Given the description of an element on the screen output the (x, y) to click on. 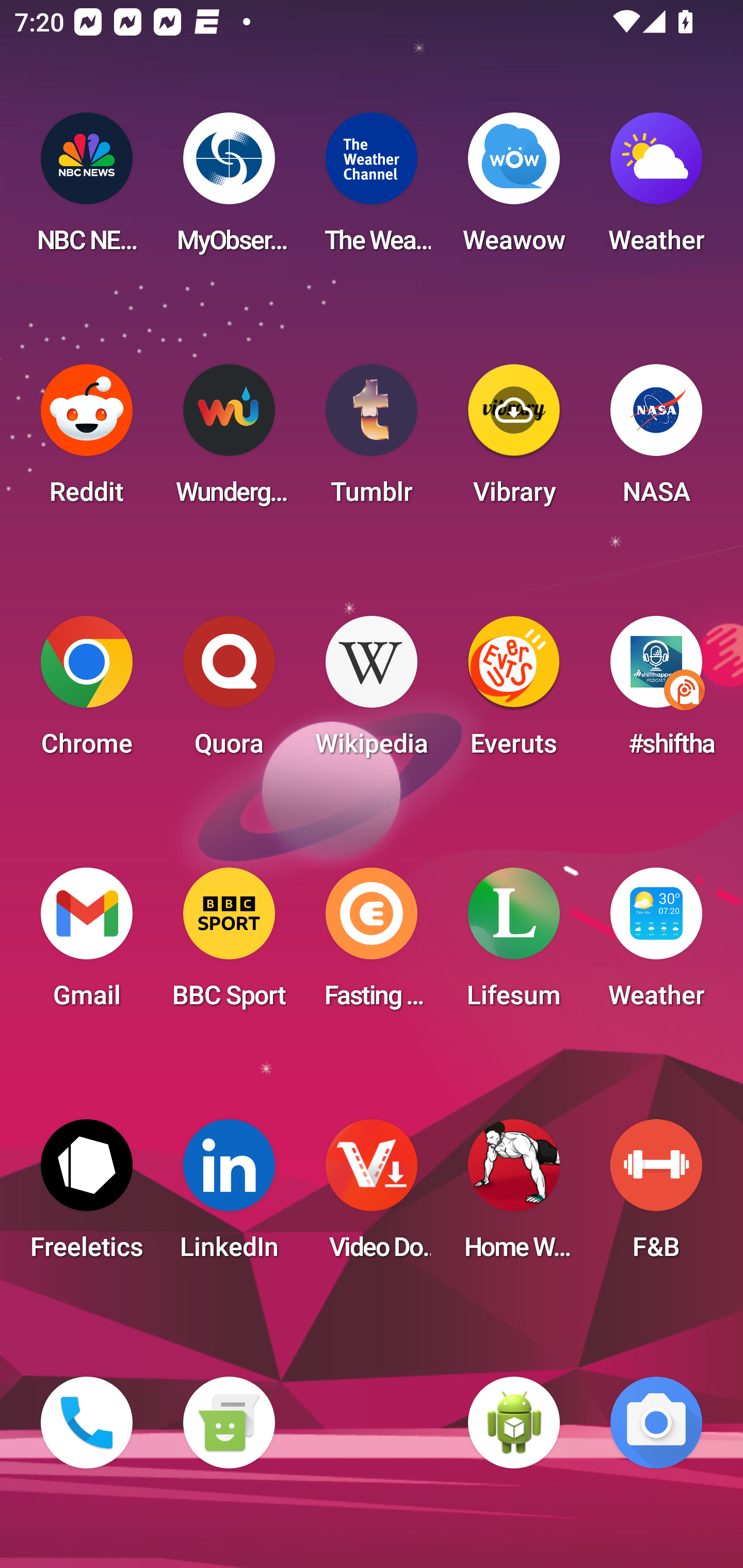
NBC NEWS (86, 188)
MyObservatory (228, 188)
The Weather Channel (371, 188)
Weawow (513, 188)
Weather (656, 188)
Reddit (86, 440)
Wunderground (228, 440)
Tumblr (371, 440)
Vibrary (513, 440)
NASA (656, 440)
Chrome (86, 692)
Quora (228, 692)
Wikipedia (371, 692)
Everuts (513, 692)
#shifthappens in the Digital Workplace Podcast (656, 692)
Gmail (86, 943)
BBC Sport (228, 943)
Fasting Coach (371, 943)
Lifesum (513, 943)
Weather (656, 943)
Freeletics (86, 1195)
LinkedIn (228, 1195)
Video Downloader & Ace Player (371, 1195)
Home Workout (513, 1195)
F&B (656, 1195)
Phone (86, 1422)
Messaging (228, 1422)
WebView Browser Tester (513, 1422)
Camera (656, 1422)
